Given the description of an element on the screen output the (x, y) to click on. 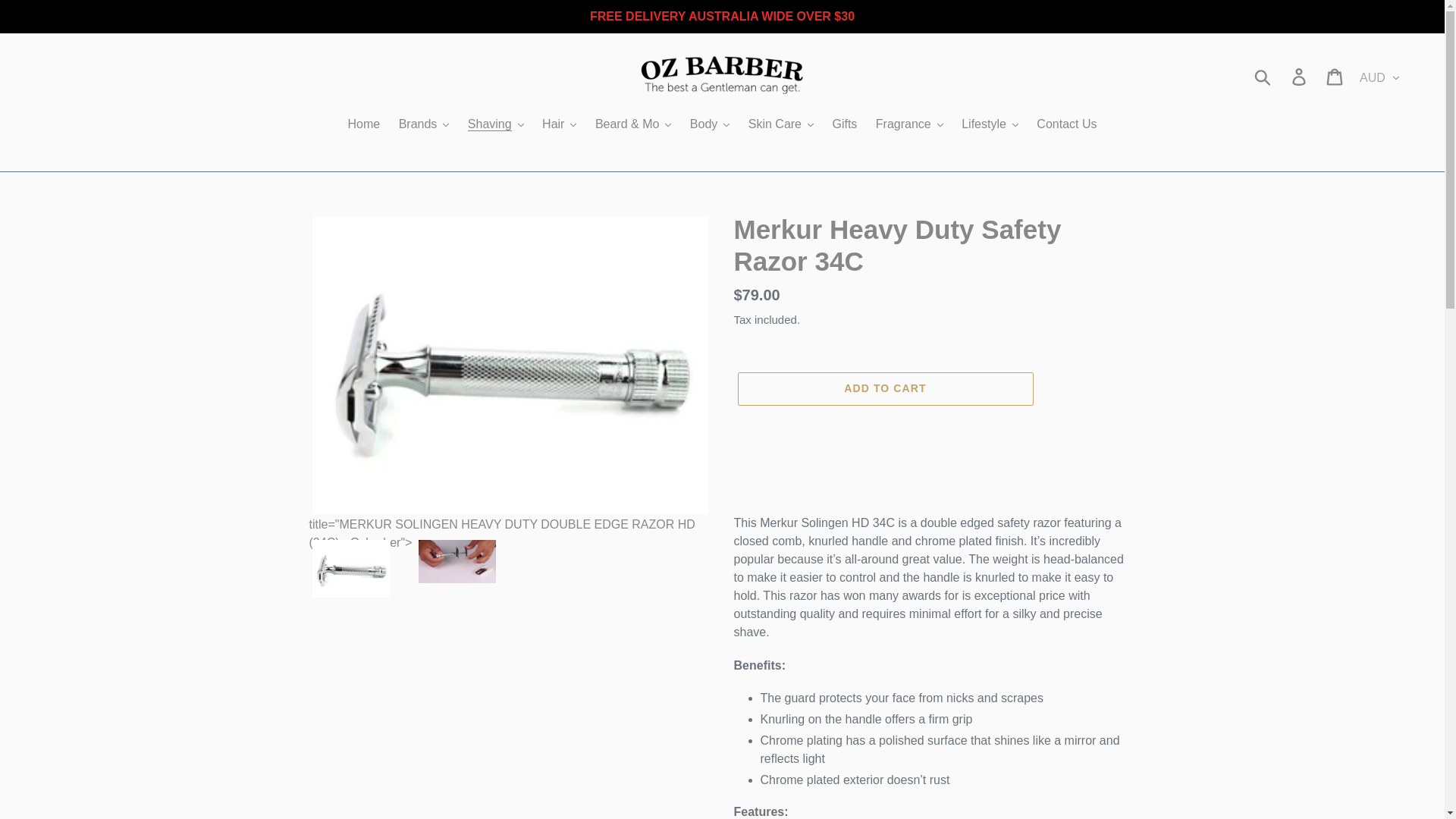
Ozbarber (721, 76)
Submit (1263, 76)
Cart (1335, 76)
Log in (1299, 76)
